Given the description of an element on the screen output the (x, y) to click on. 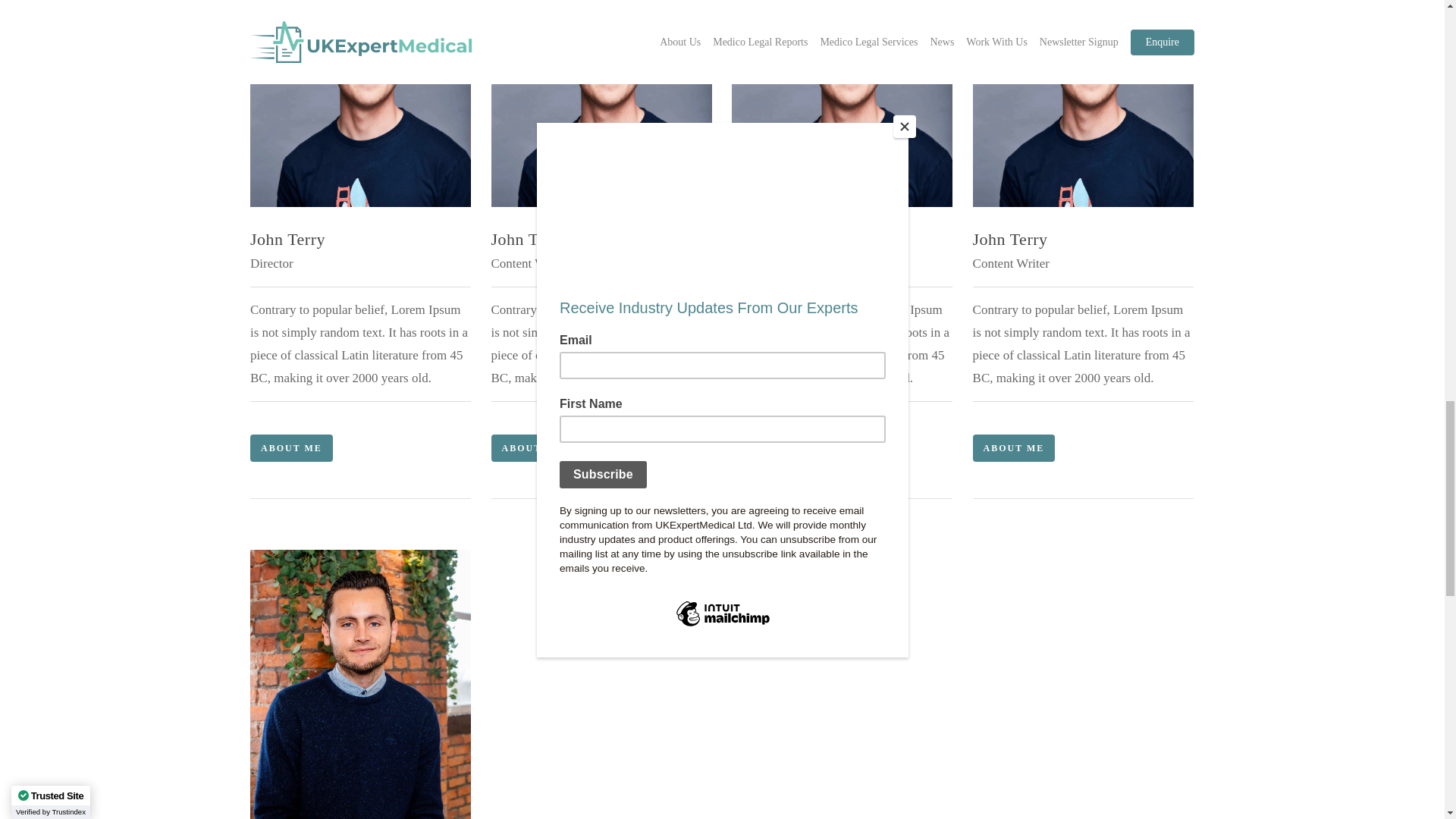
John Terry (601, 103)
John Terry (842, 103)
John Terry (360, 103)
John Terry (1082, 103)
